Given the description of an element on the screen output the (x, y) to click on. 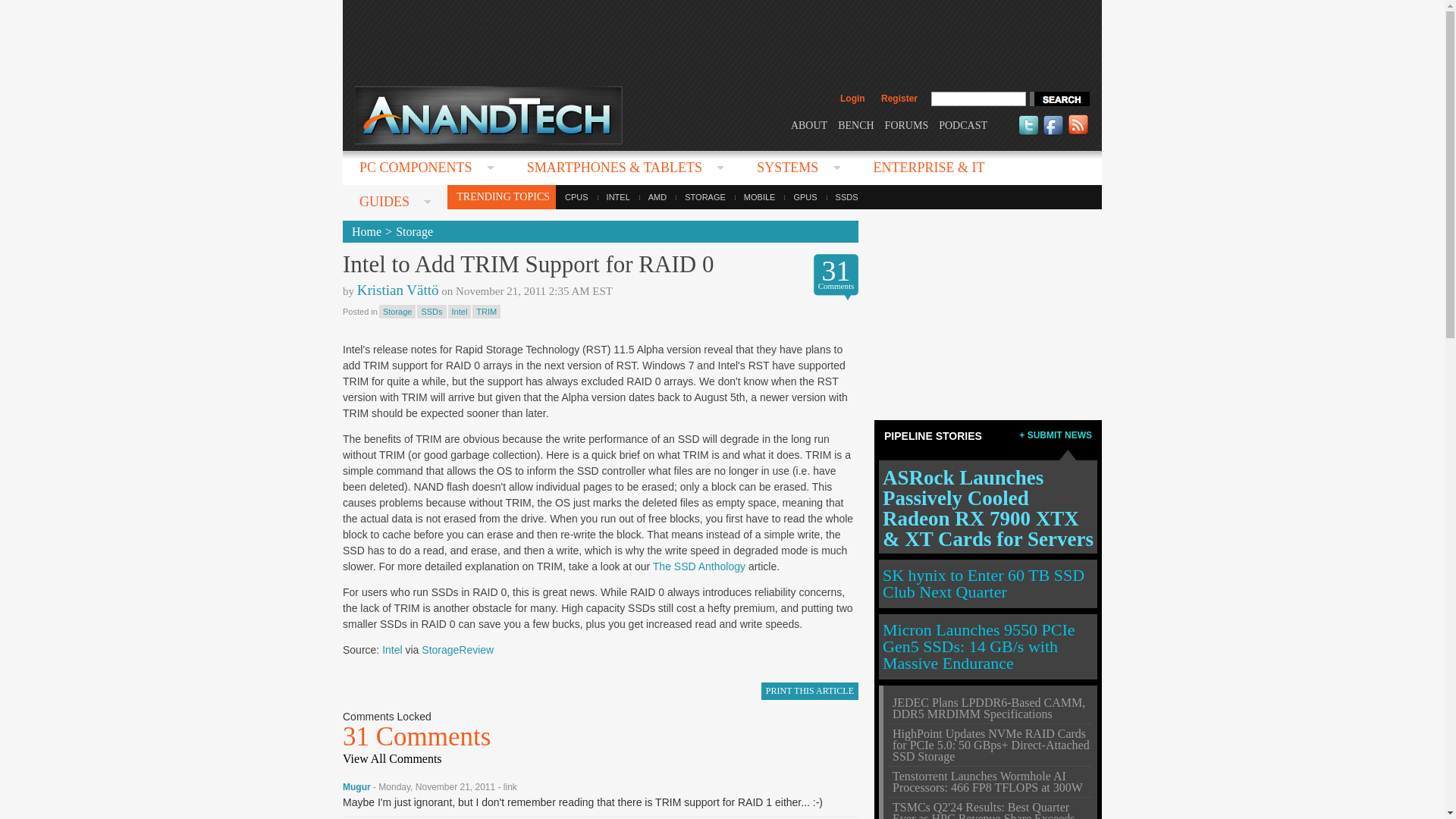
search (1059, 98)
Register (898, 98)
search (1059, 98)
Login (852, 98)
FORUMS (906, 125)
ABOUT (808, 125)
BENCH (855, 125)
search (1059, 98)
PODCAST (963, 125)
